Given the description of an element on the screen output the (x, y) to click on. 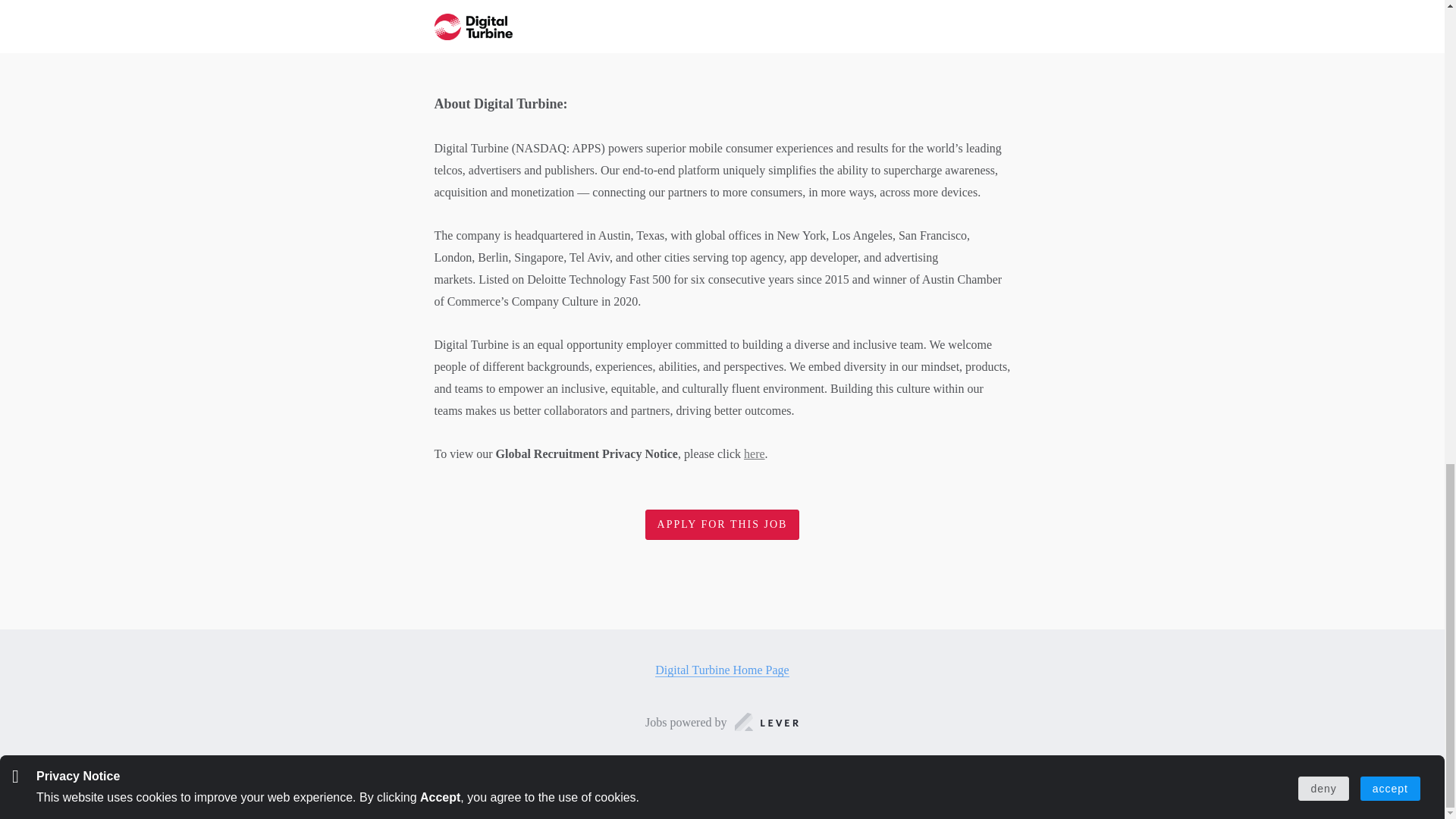
Digital Turbine Home Page (722, 670)
here (754, 453)
Jobs powered by (722, 722)
APPLY FOR THIS JOB (722, 524)
